Given the description of an element on the screen output the (x, y) to click on. 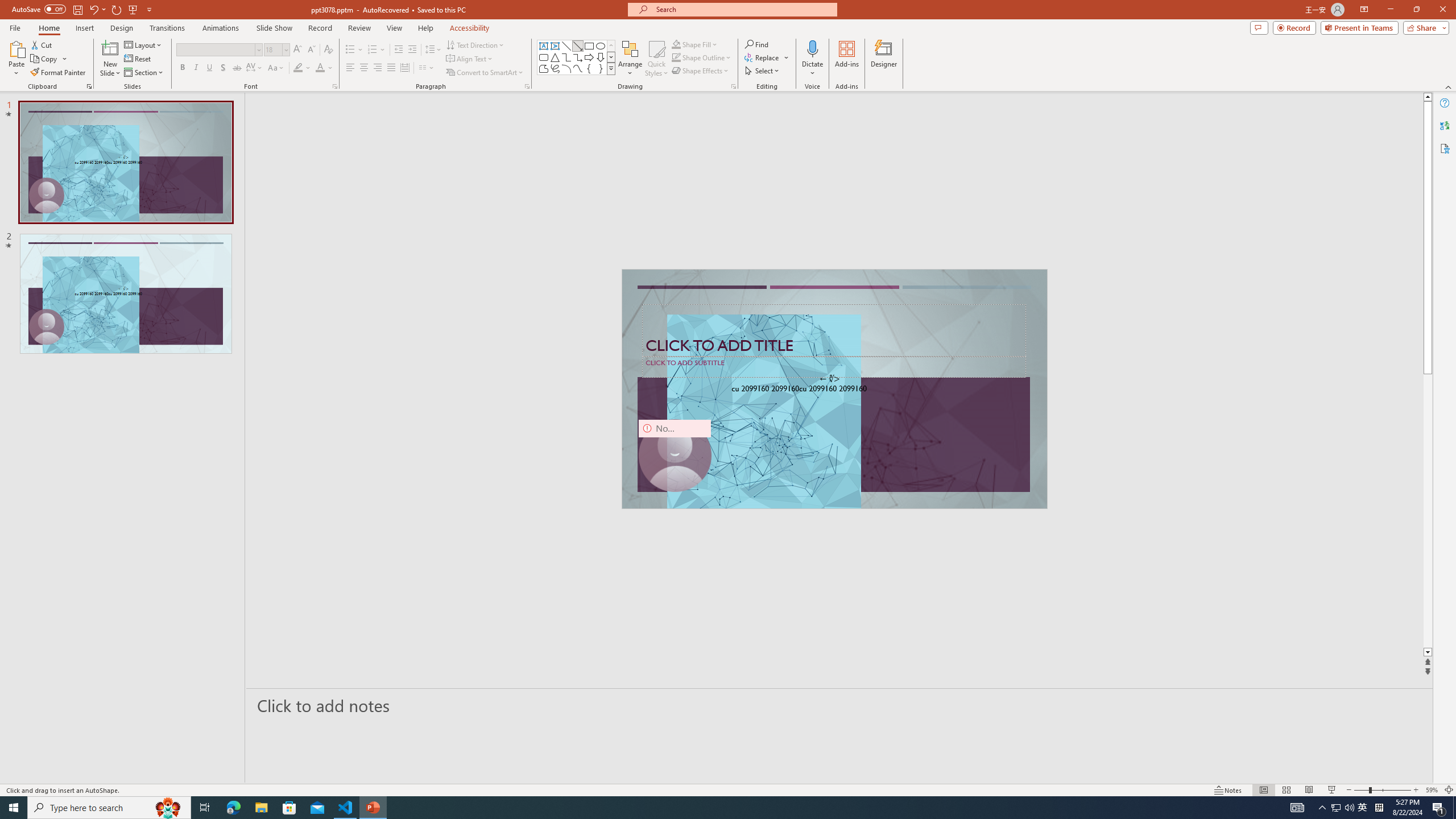
TextBox 61 (833, 389)
